Given the description of an element on the screen output the (x, y) to click on. 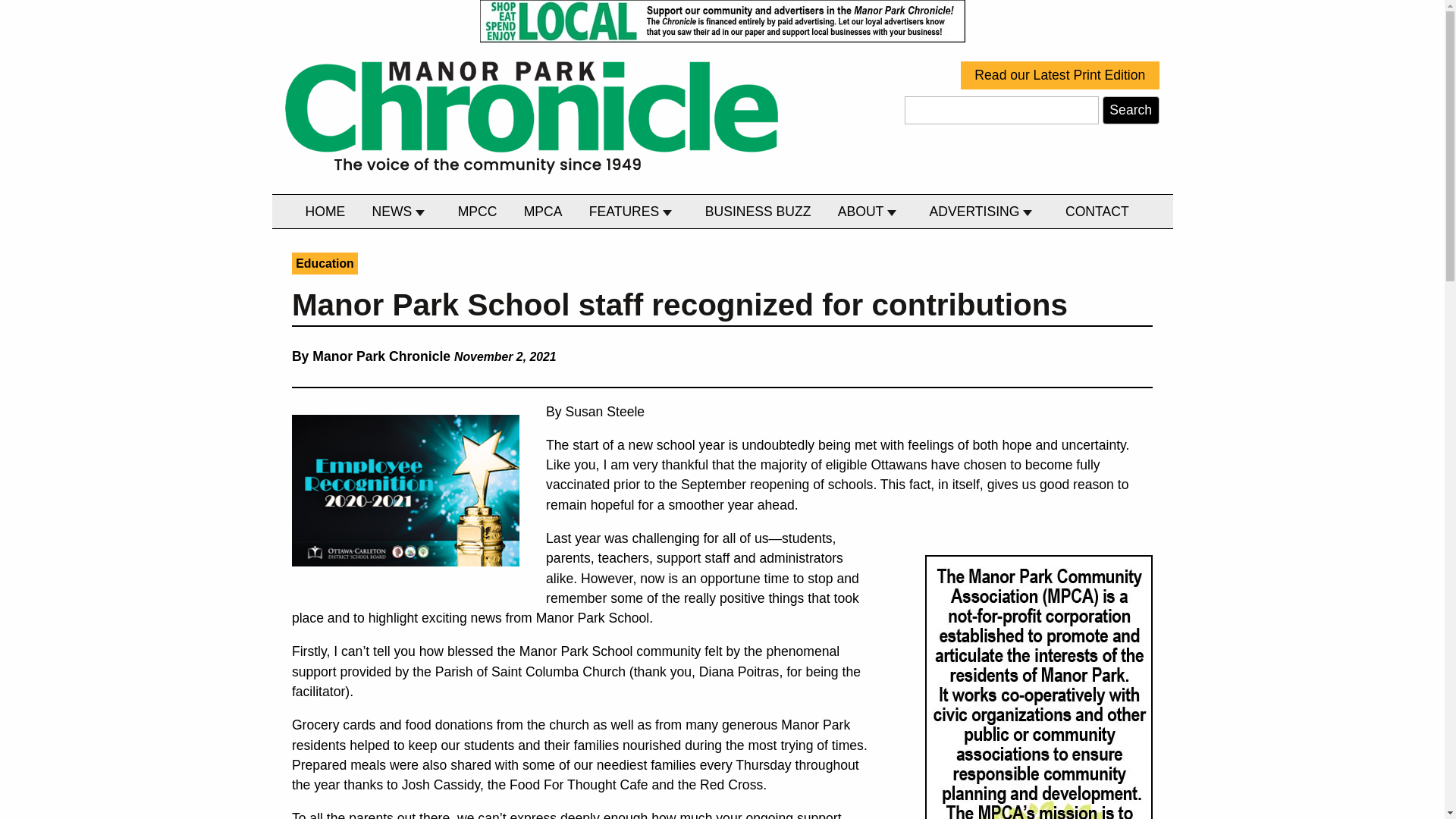
HOME (325, 211)
CONTACT (1096, 211)
MPCC (477, 211)
ADVERTISING (984, 211)
MPCA (542, 211)
FEATURES (633, 211)
BUSINESS BUZZ (757, 211)
Read our Latest Print Edition (1059, 75)
NEWS (401, 211)
Search (1130, 110)
ABOUT (869, 211)
Education (325, 263)
